Given the description of an element on the screen output the (x, y) to click on. 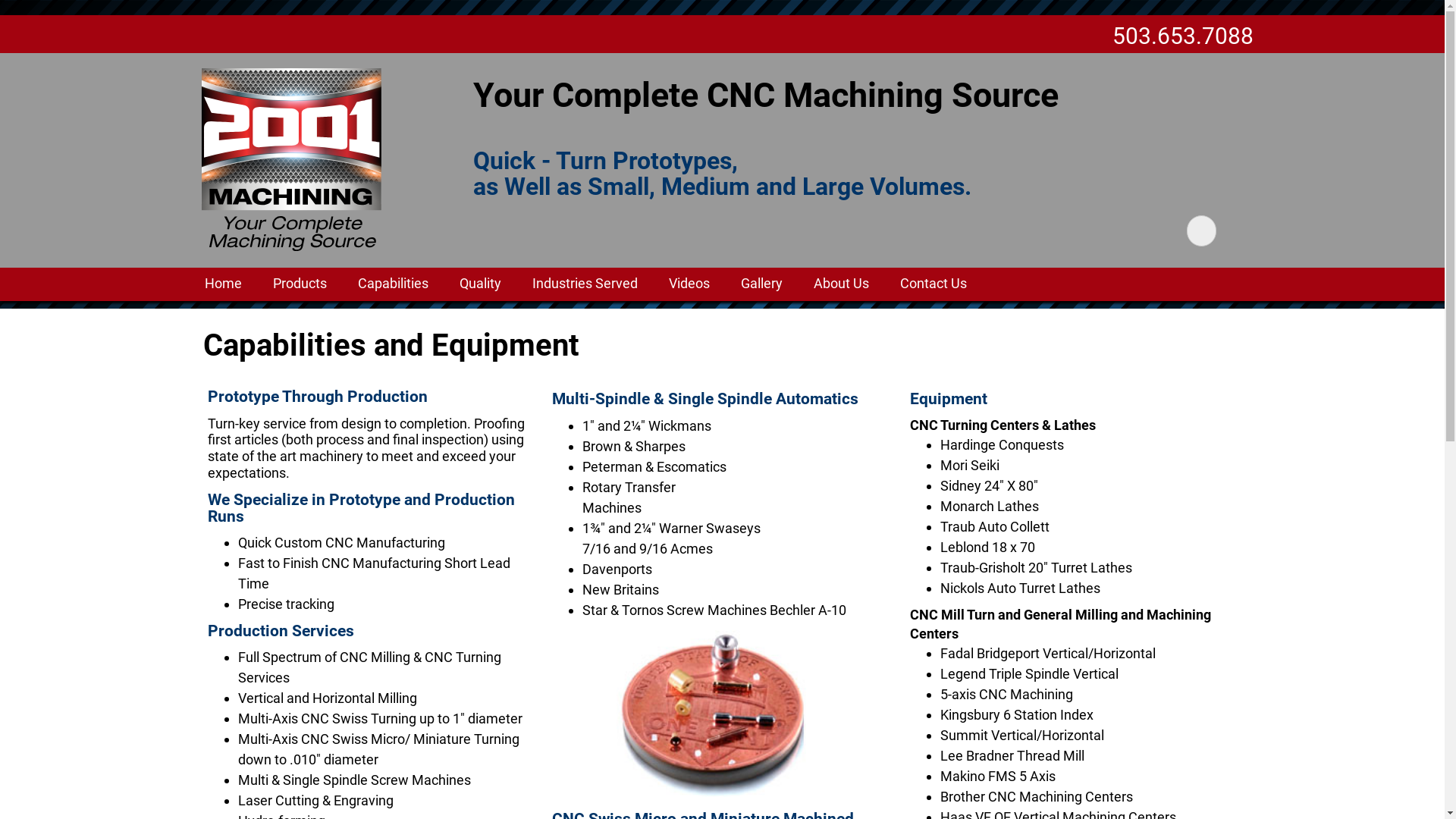
Products Element type: text (299, 284)
Home Element type: text (223, 284)
Capabilities Element type: text (392, 284)
Gallery Element type: text (761, 284)
Quality Element type: text (480, 284)
Videos Element type: text (689, 284)
About Us Element type: text (841, 284)
Contact Us Element type: text (933, 284)
Industries Served Element type: text (584, 284)
